Given the description of an element on the screen output the (x, y) to click on. 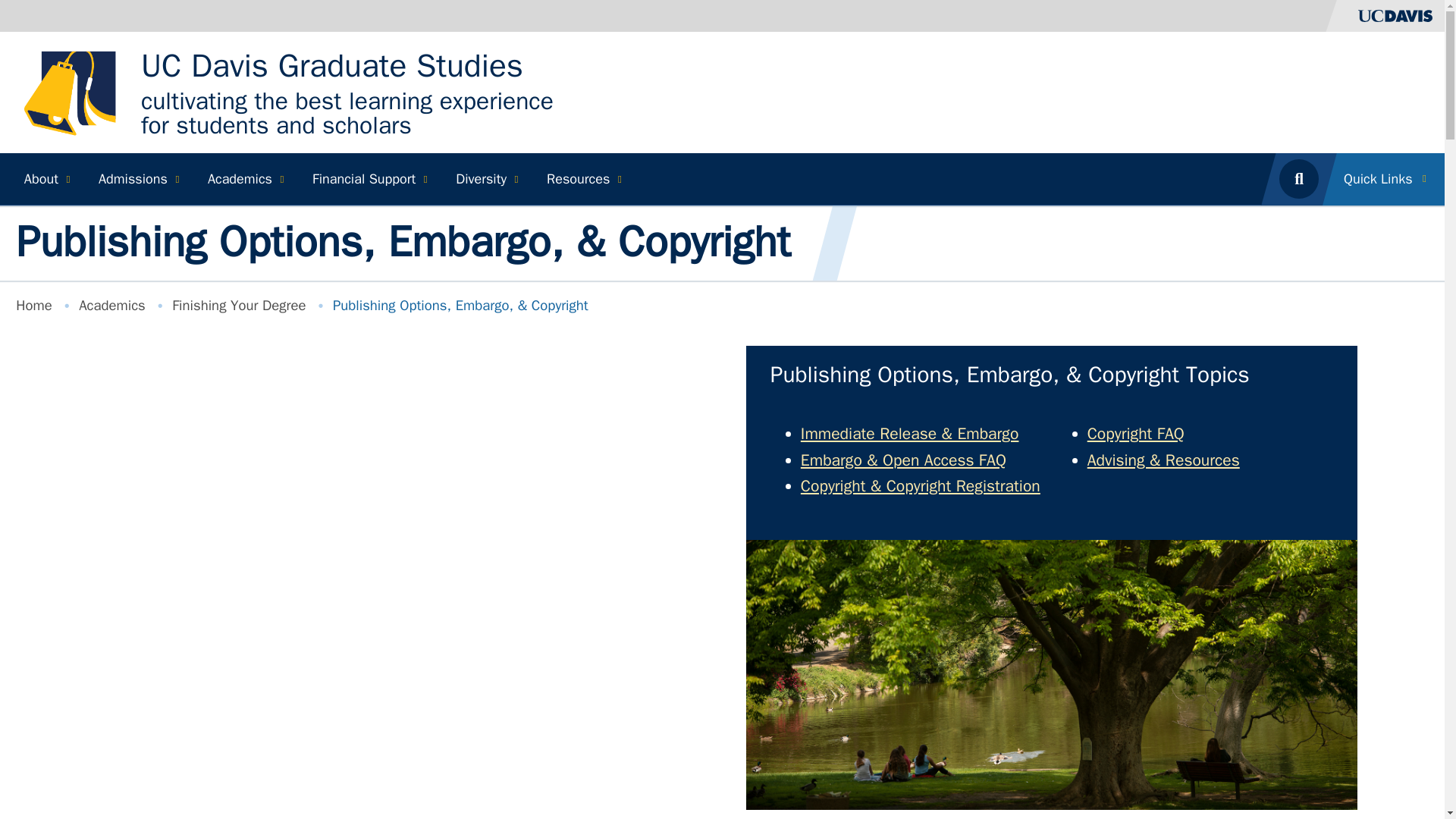
Our Commitment to Diversity (485, 179)
UC Davis Graduate Studies (331, 65)
Home (74, 91)
Open Search (1298, 179)
Home (331, 65)
About (45, 179)
